Given the description of an element on the screen output the (x, y) to click on. 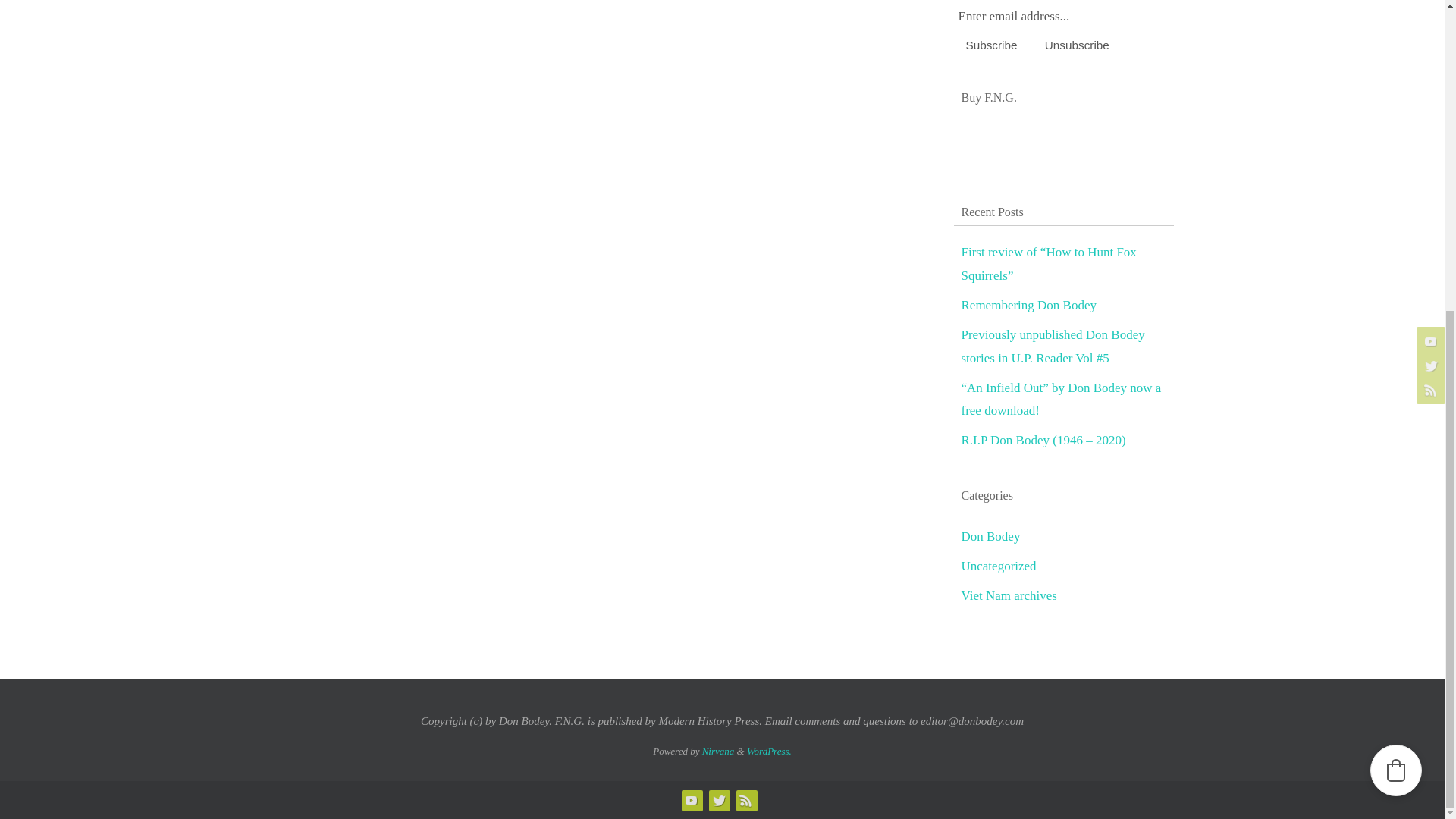
Enter email address... (1037, 16)
Subscribe (991, 45)
Unsubscribe (1076, 45)
Nirvana Theme by Cryout Creations (718, 750)
